Given the description of an element on the screen output the (x, y) to click on. 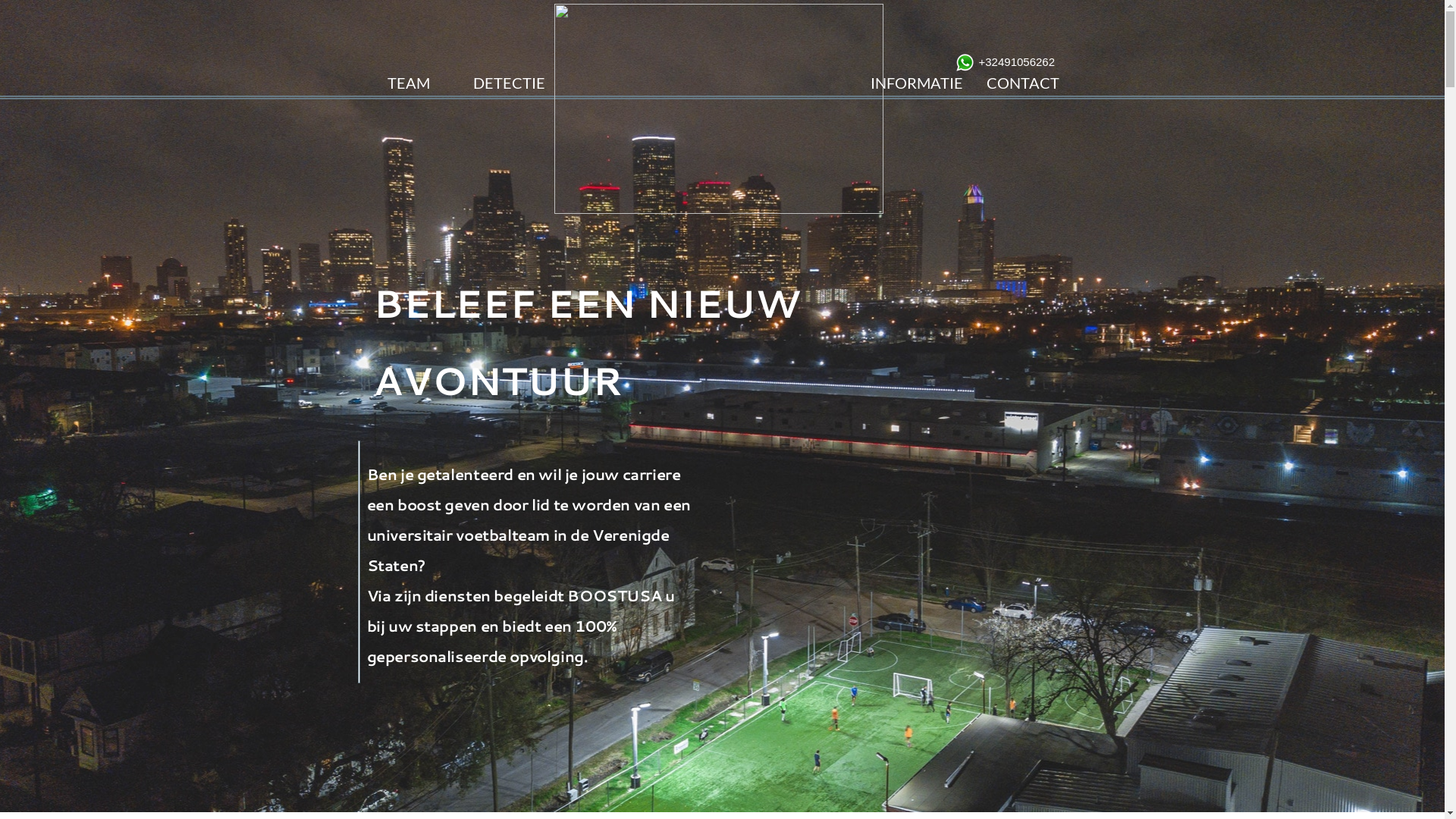
+32491056262 Element type: text (1016, 61)
  Element type: text (912, 83)
